Given the description of an element on the screen output the (x, y) to click on. 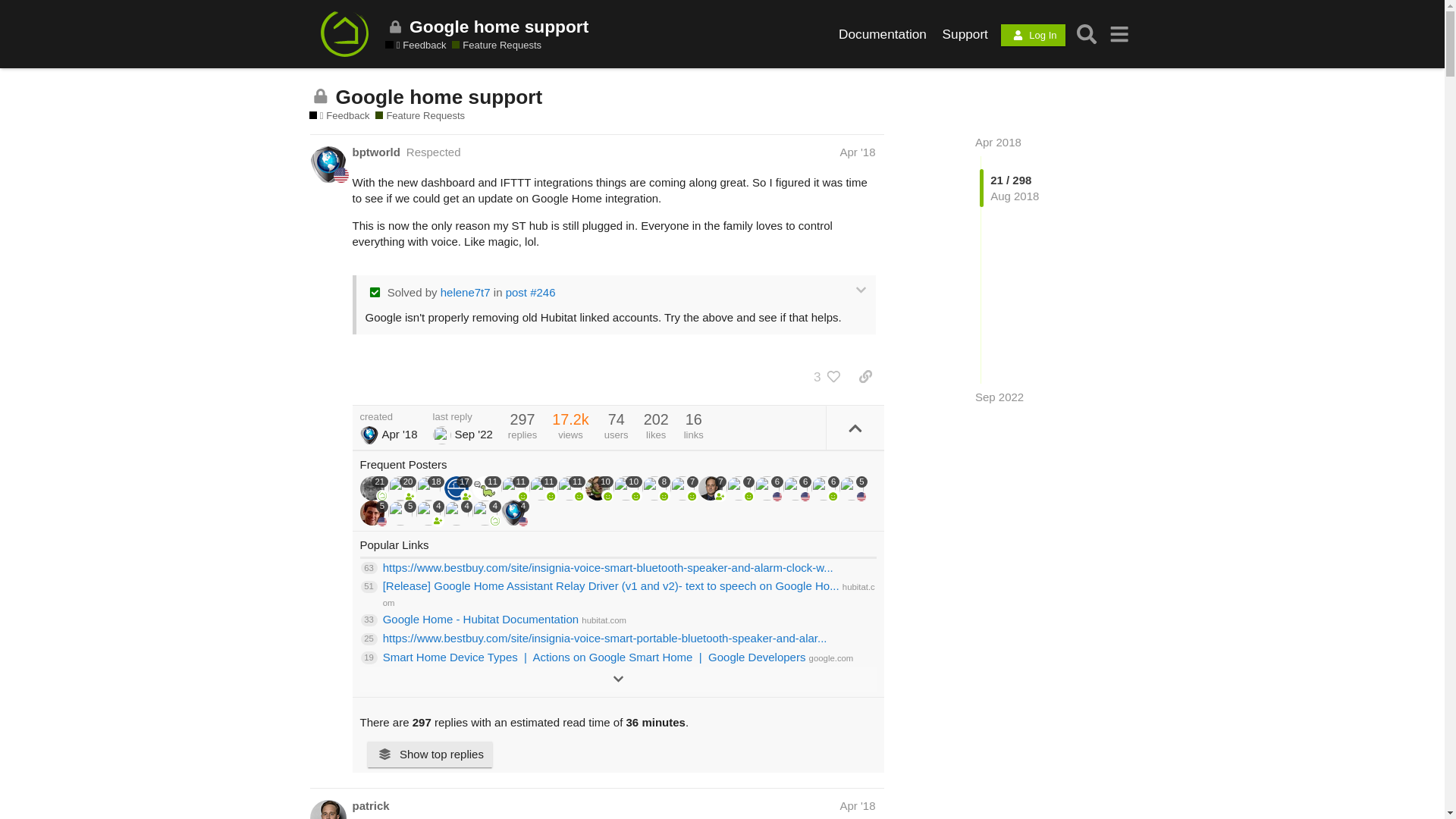
10 (627, 487)
bptworld (375, 151)
Feature Requests (496, 45)
Post date (857, 151)
21 (373, 487)
Apr '18 (857, 151)
11 (485, 487)
Apr 2018 (998, 141)
Documentation (882, 33)
Hubitat Elevation Documentation (882, 33)
11 (543, 487)
Share your feedback and ideas about Hubitat Elevation. (415, 45)
This topic is closed; it no longer accepts new replies (319, 95)
menu (1119, 34)
Feature Requests (419, 115)
